Given the description of an element on the screen output the (x, y) to click on. 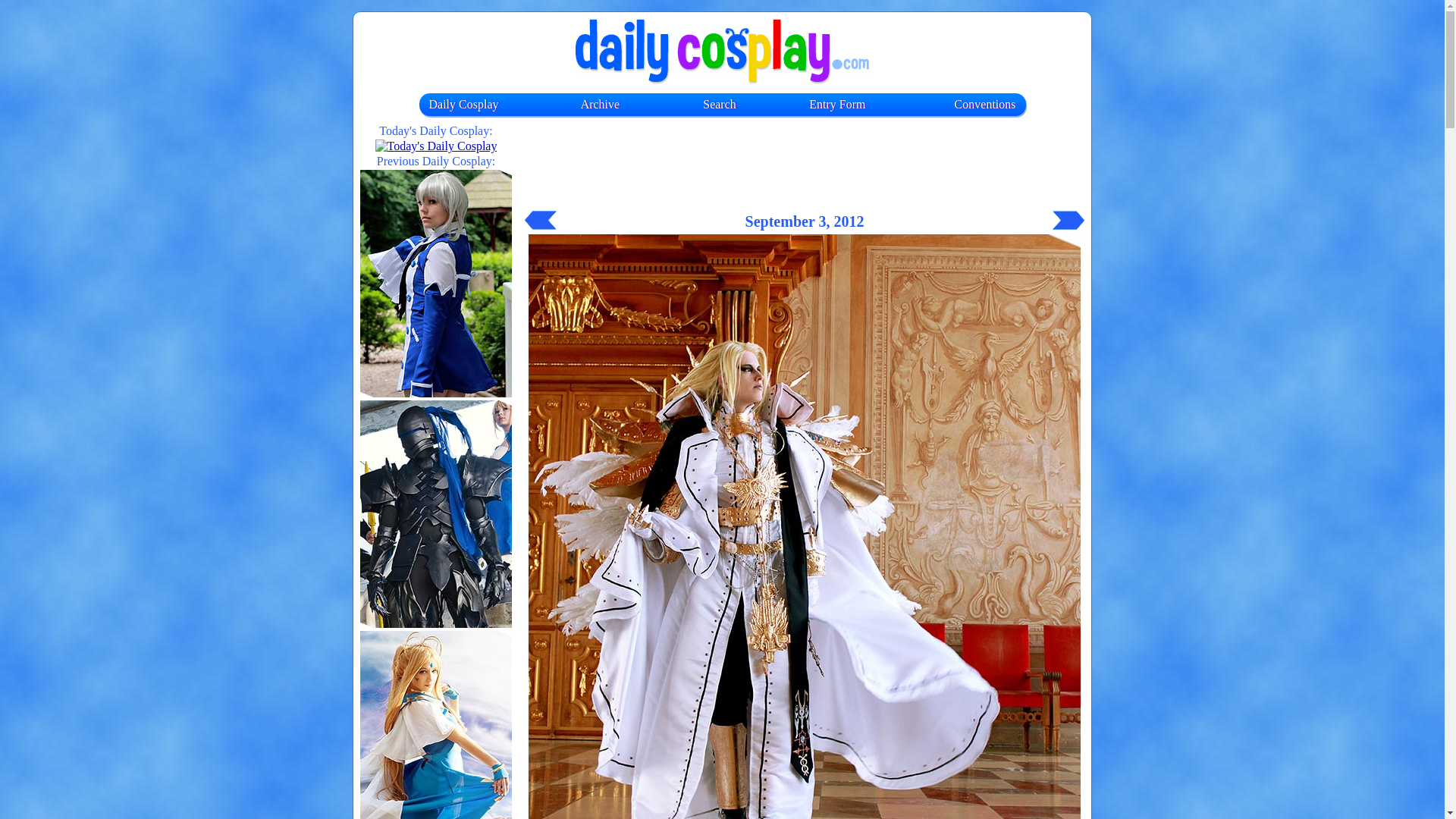
Previous (540, 220)
Daily Cosplay (464, 103)
Daily Cosplay .com (722, 51)
Search (719, 103)
Daily Cosplay (464, 103)
Conventions (985, 103)
Entry Form (836, 103)
Archive (600, 103)
Entry Form (836, 103)
Advertisement (804, 172)
